Given the description of an element on the screen output the (x, y) to click on. 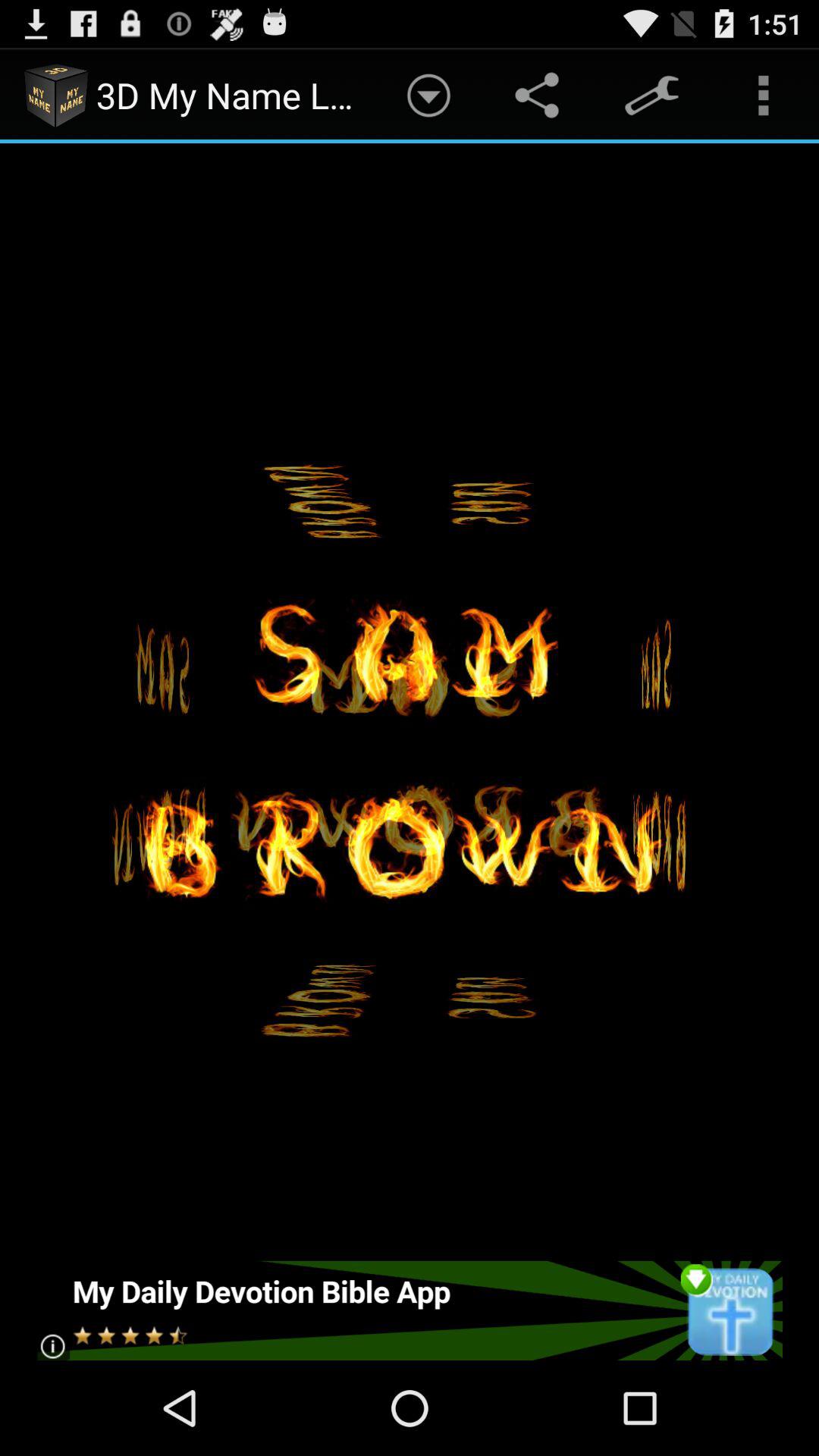
select advertisement (408, 1310)
